Given the description of an element on the screen output the (x, y) to click on. 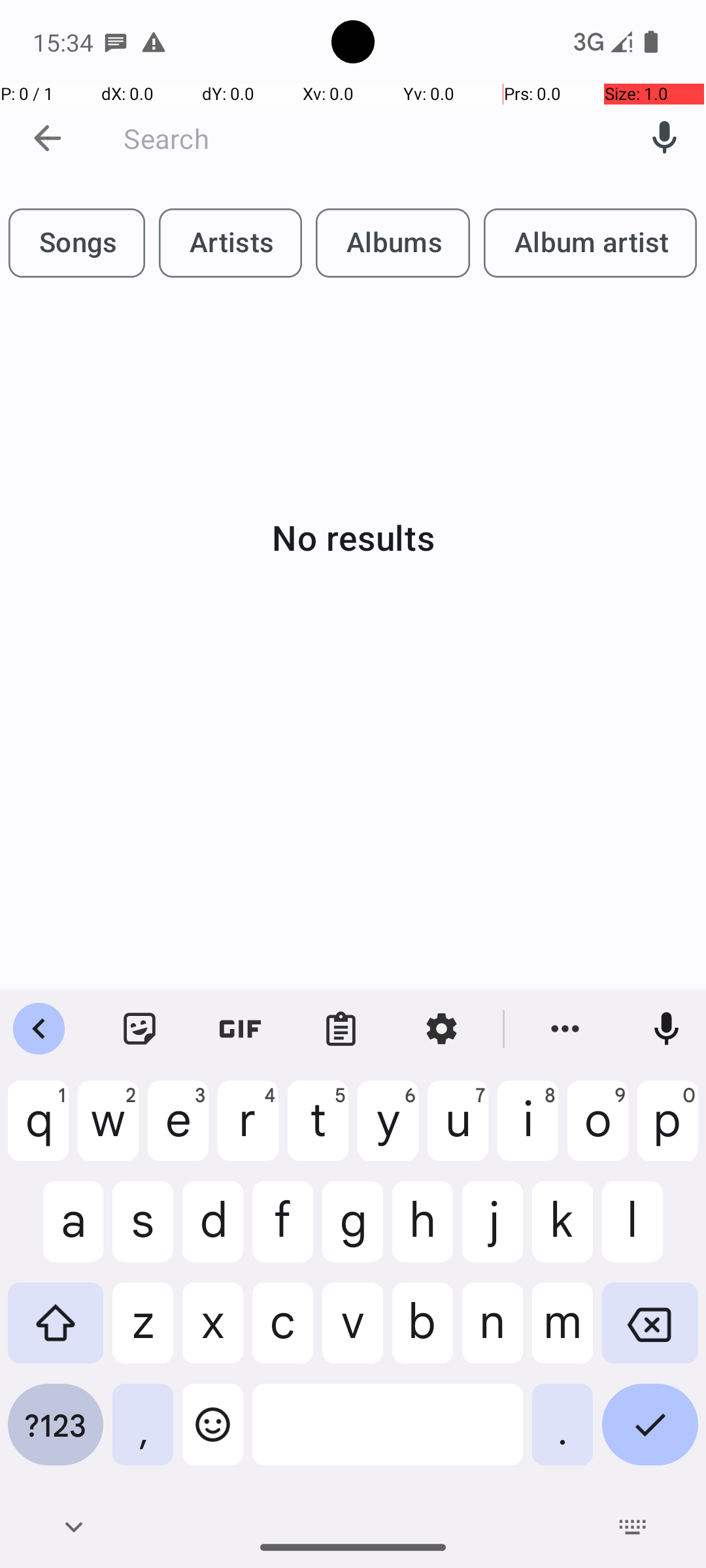
No results Element type: android.widget.TextView (352, 537)
Songs Element type: android.widget.RadioButton (76, 242)
Artists Element type: android.widget.RadioButton (230, 242)
Albums Element type: android.widget.RadioButton (392, 242)
Album artist Element type: android.widget.RadioButton (589, 242)
